Given the description of an element on the screen output the (x, y) to click on. 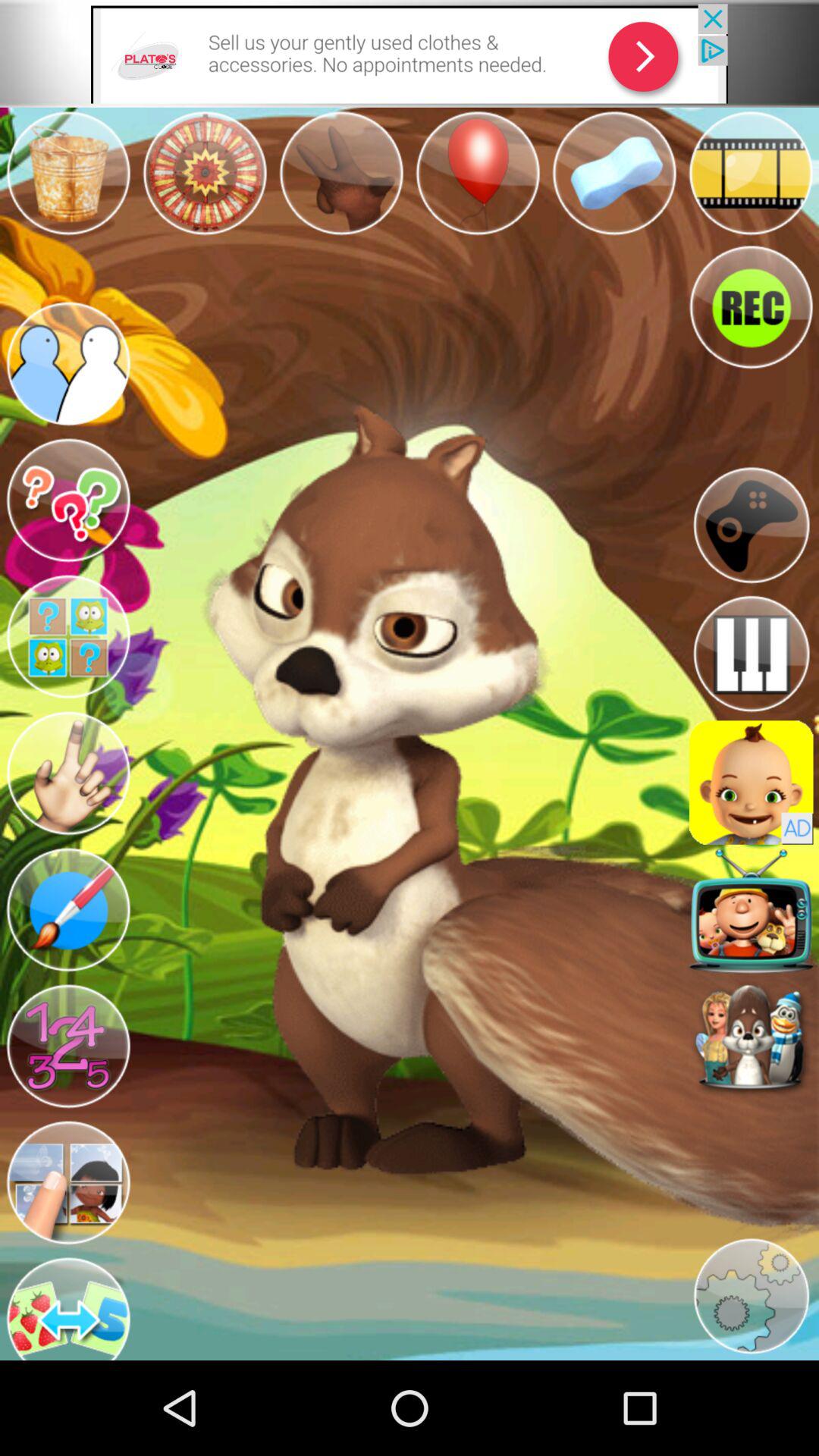
access settings (751, 1296)
